Given the description of an element on the screen output the (x, y) to click on. 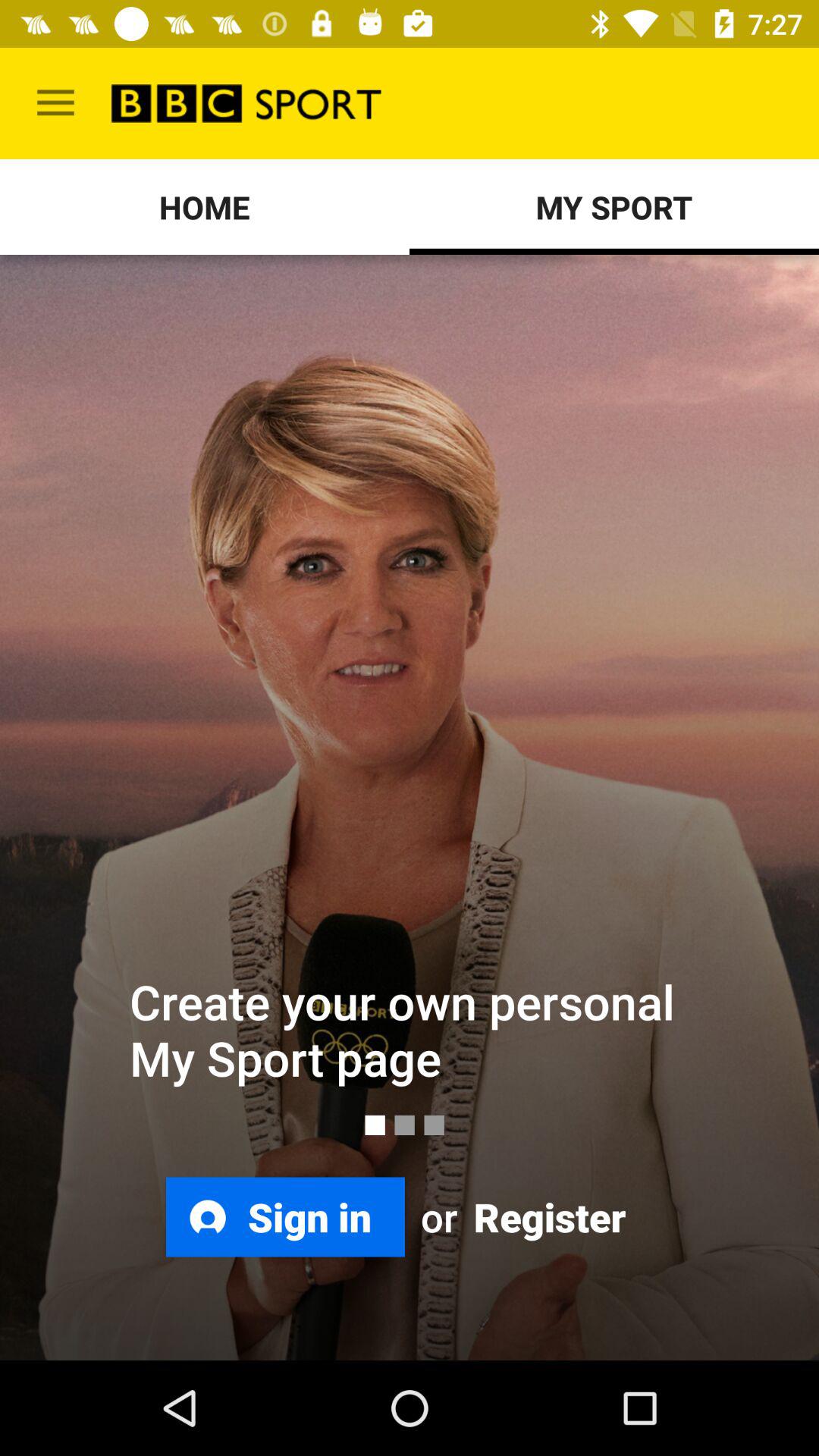
open item to the right of the or icon (547, 1216)
